Given the description of an element on the screen output the (x, y) to click on. 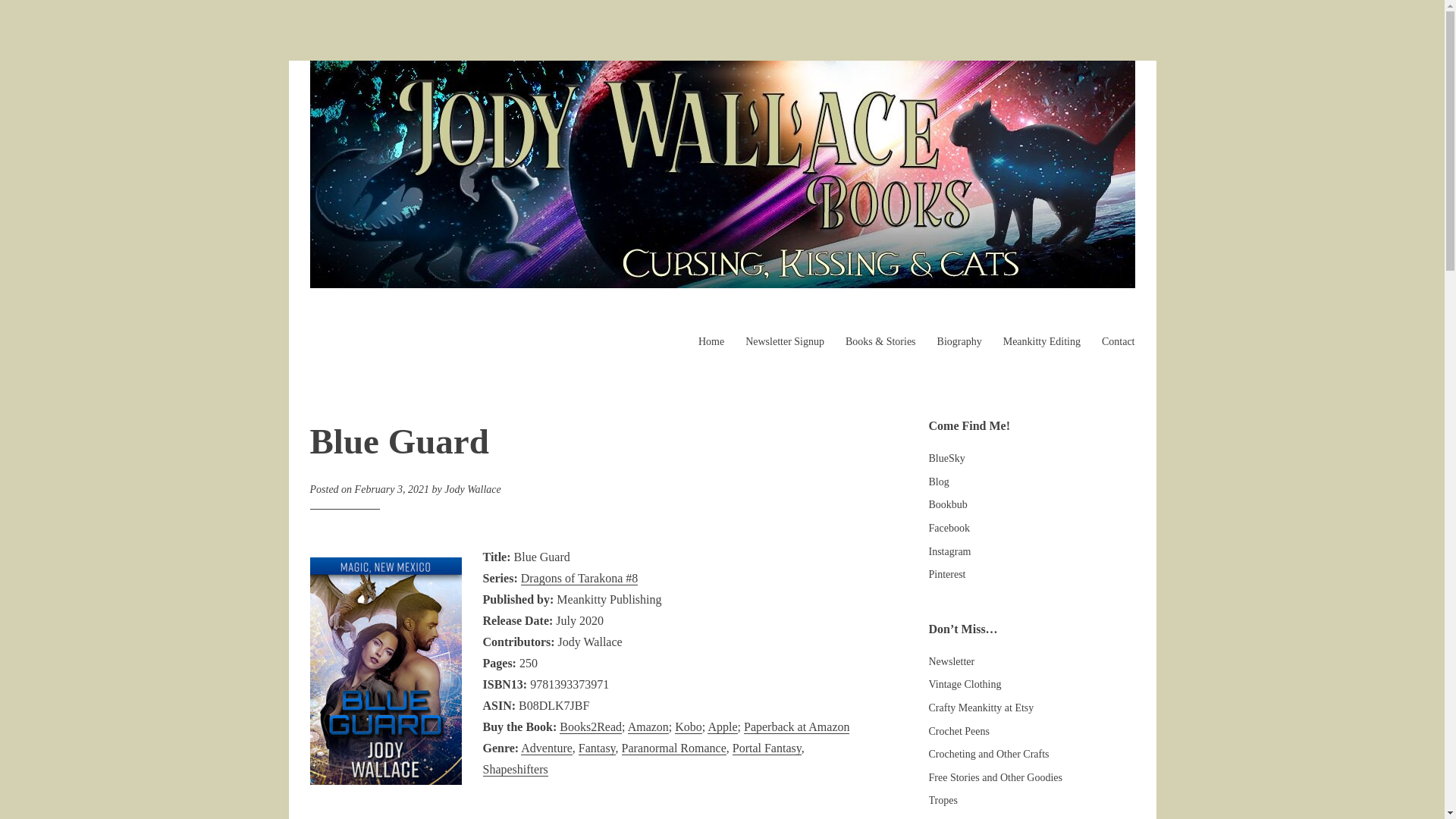
Meankitty Editing (1041, 341)
Shapeshifters (514, 768)
Newsletter Signup (784, 341)
Kobo (688, 726)
Paranormal Romance (673, 748)
Biography (959, 341)
Paperback at Amazon (797, 726)
Apple (721, 726)
Jody Wallace, Author (410, 366)
Portal Fantasy (767, 748)
Contact (1118, 341)
Blog (938, 481)
Books2Read (590, 726)
February 3, 2021 (392, 489)
